Given the description of an element on the screen output the (x, y) to click on. 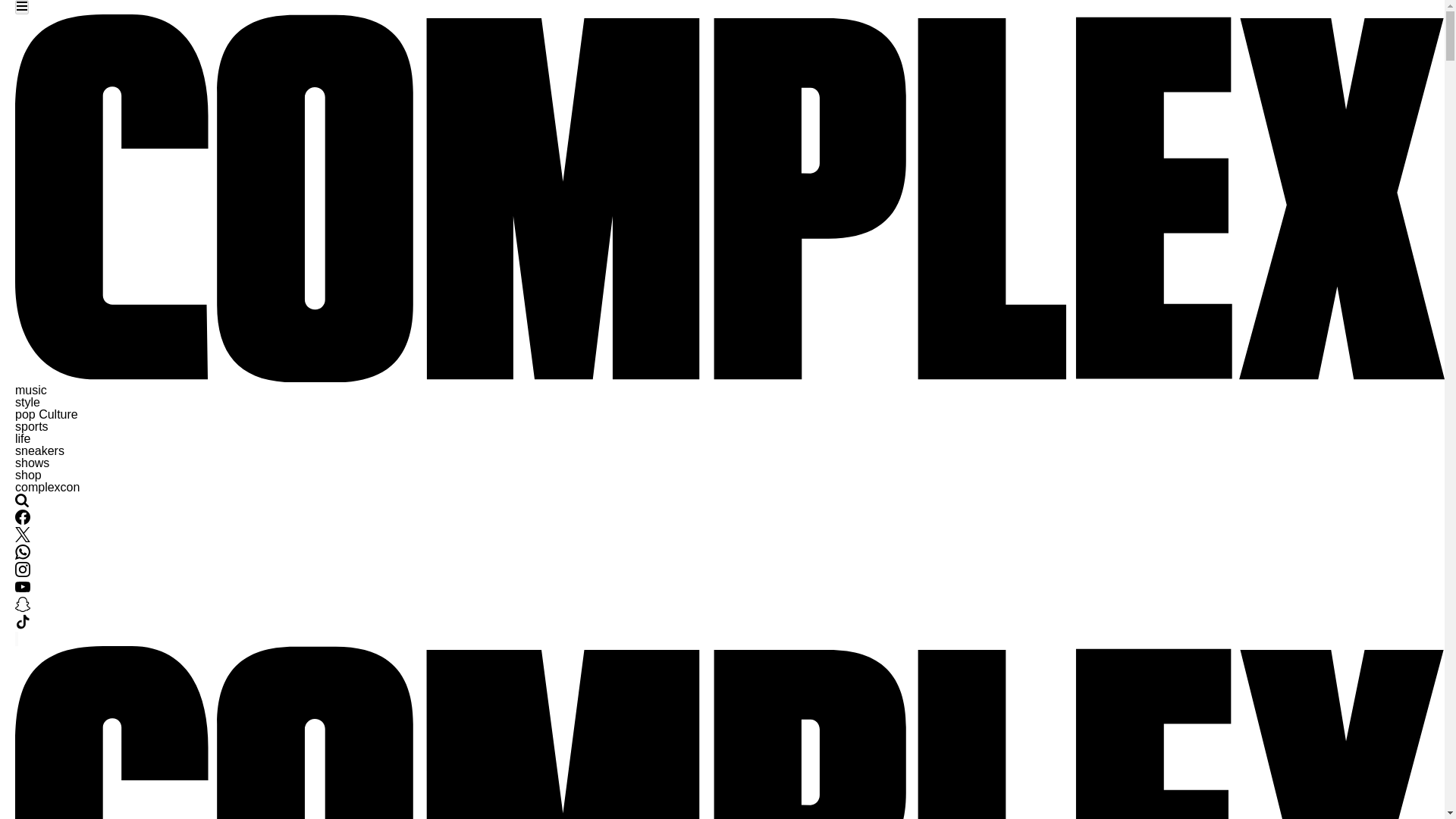
hamburger menu (21, 5)
TikTok Navigation Icon (22, 625)
style (27, 401)
hamburger menu (21, 7)
complexcon (47, 486)
music (30, 390)
life (22, 438)
Snapchat Navigation Icon (22, 607)
shop (28, 474)
Twitter Navigation Icon (22, 534)
Facebook Navigation Icon (22, 516)
shows (31, 462)
sneakers (39, 450)
sports (31, 426)
Instagram Navigation Icon (22, 572)
